Given the description of an element on the screen output the (x, y) to click on. 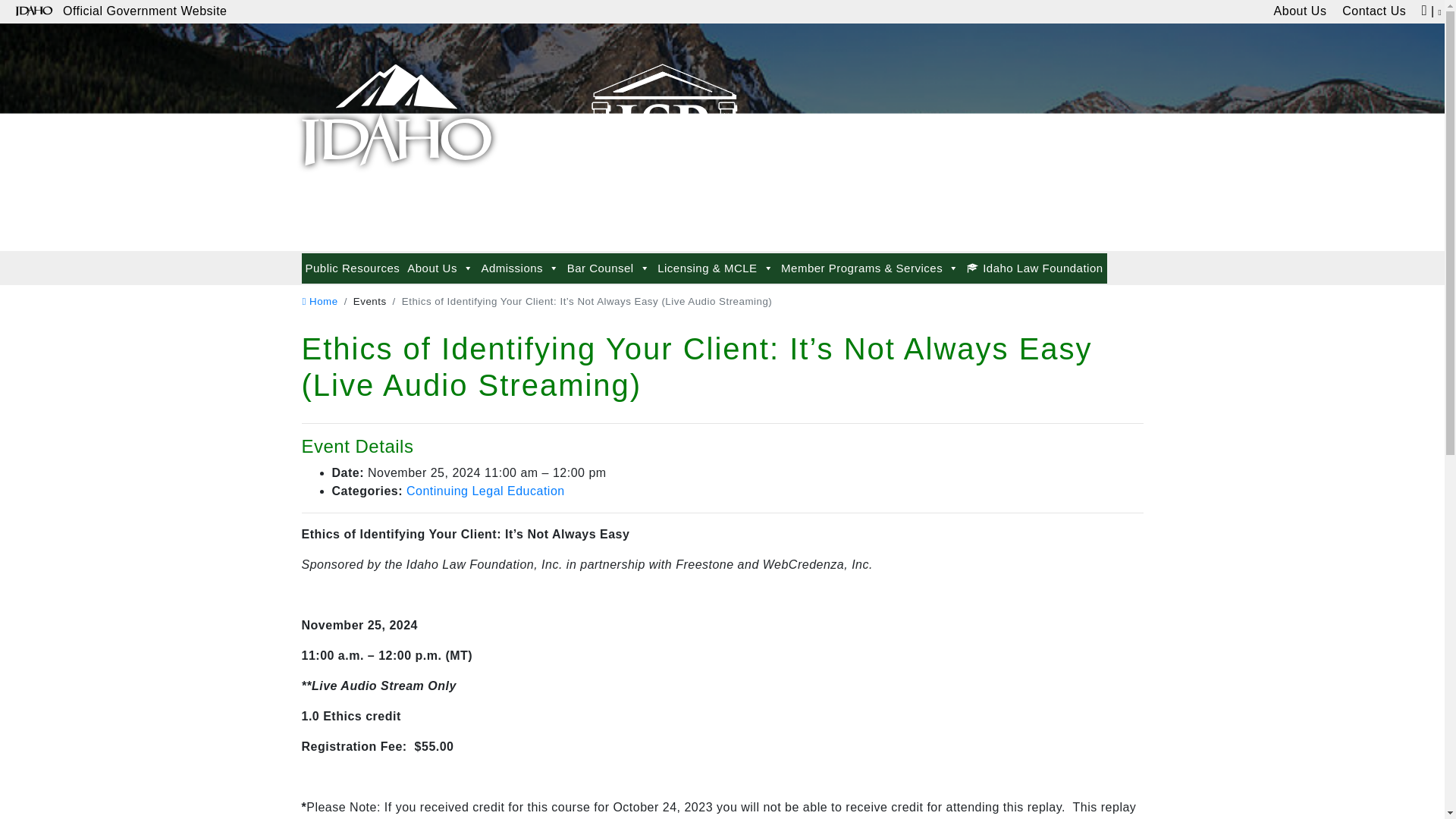
Bar Counsel (608, 268)
About Us (440, 268)
Public Resources (352, 268)
State Bar (396, 107)
About Us (1300, 12)
home (319, 301)
Admissions (519, 268)
Contact Us (1374, 12)
